Given the description of an element on the screen output the (x, y) to click on. 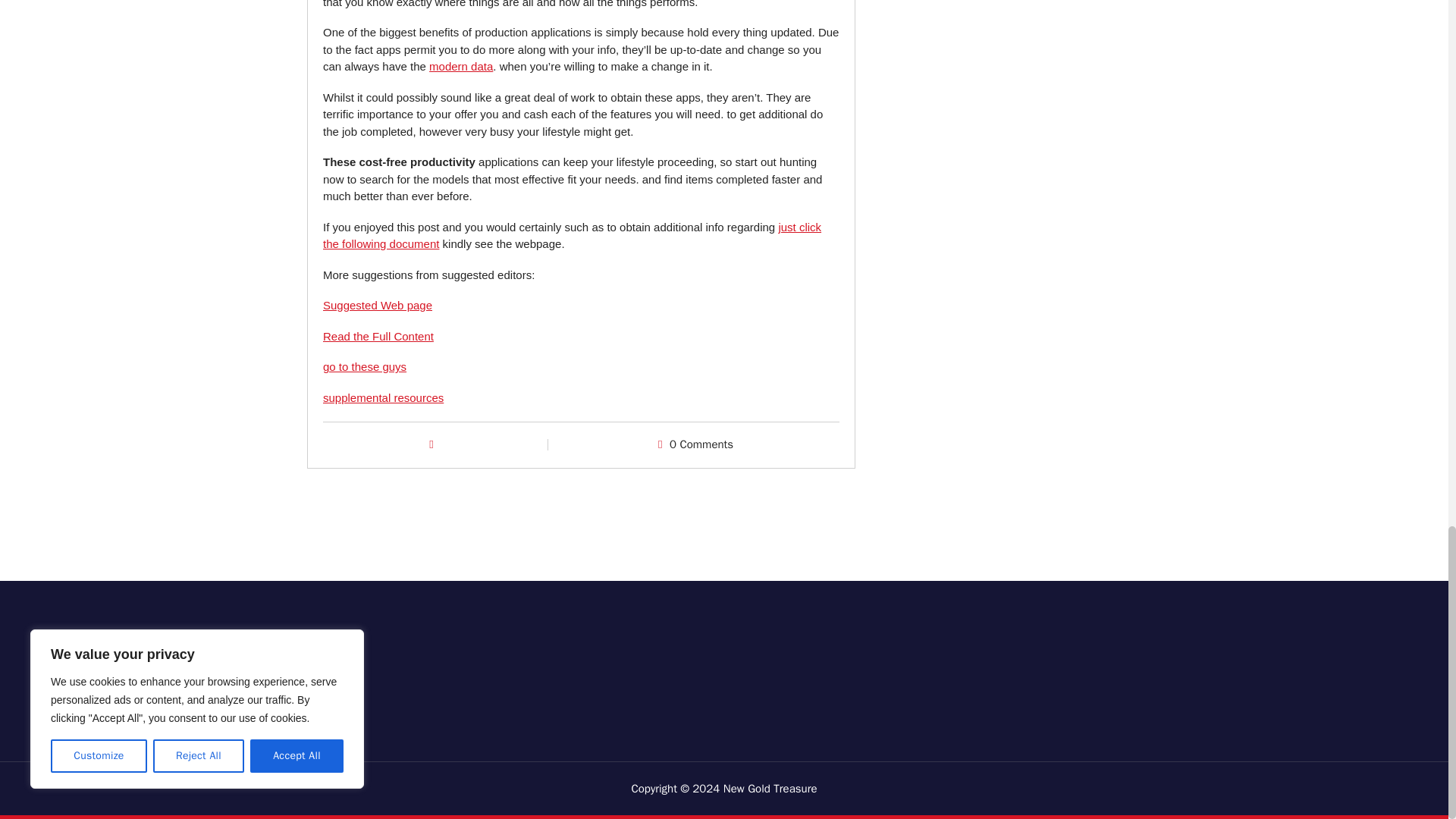
Suggested Web page (377, 305)
supplemental resources (383, 397)
modern data (461, 65)
go to these guys (364, 366)
just click the following document (572, 235)
Read the Full Content (378, 336)
